Given the description of an element on the screen output the (x, y) to click on. 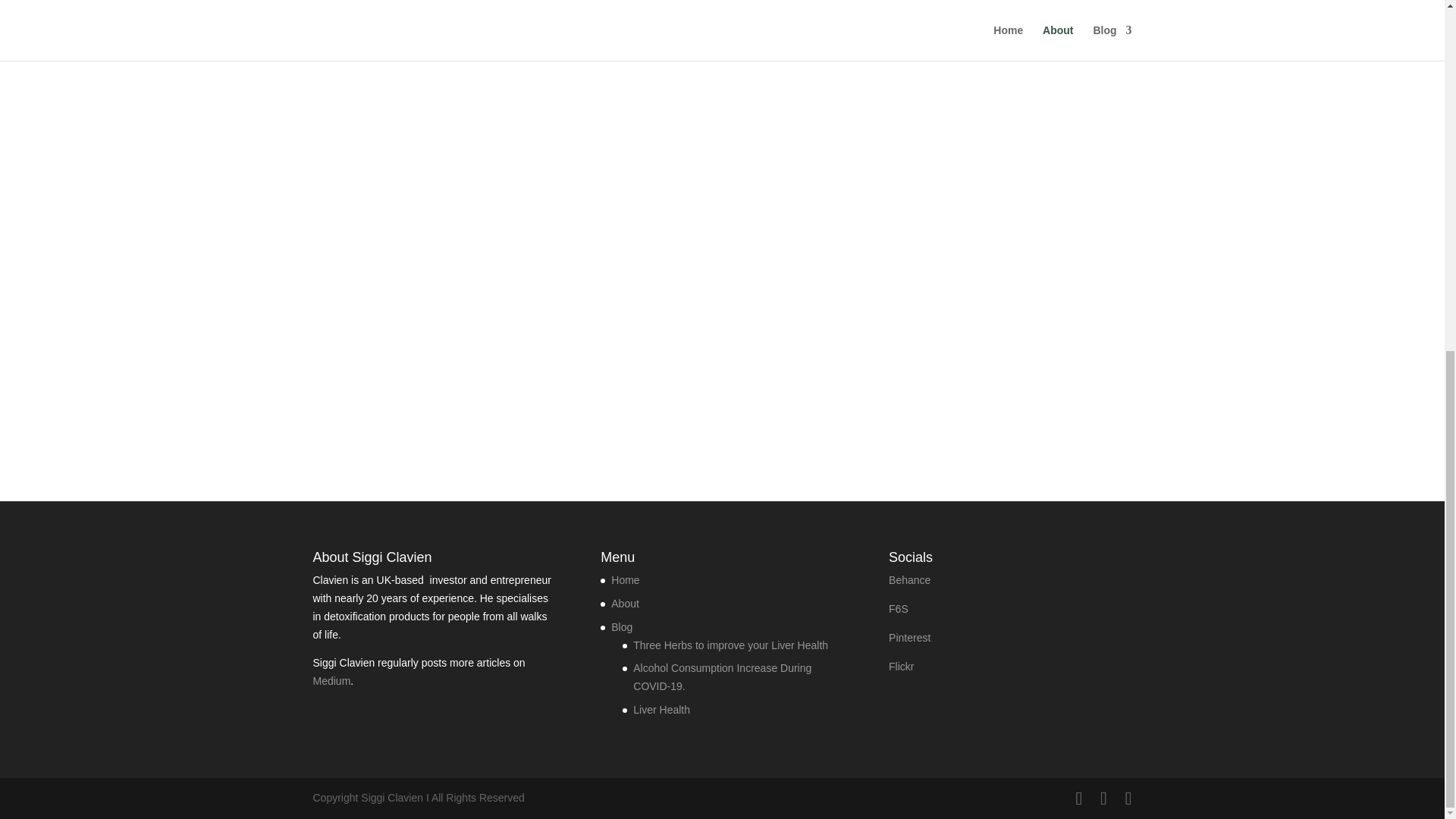
Medium (331, 680)
Three Herbs to improve your Liver Health (730, 645)
About (625, 603)
Blog (621, 626)
Flickr (901, 666)
Home (625, 580)
F6S (898, 608)
Liver Health (661, 709)
Alcohol Consumption Increase During COVID-19. (721, 676)
Behance (909, 580)
